Given the description of an element on the screen output the (x, y) to click on. 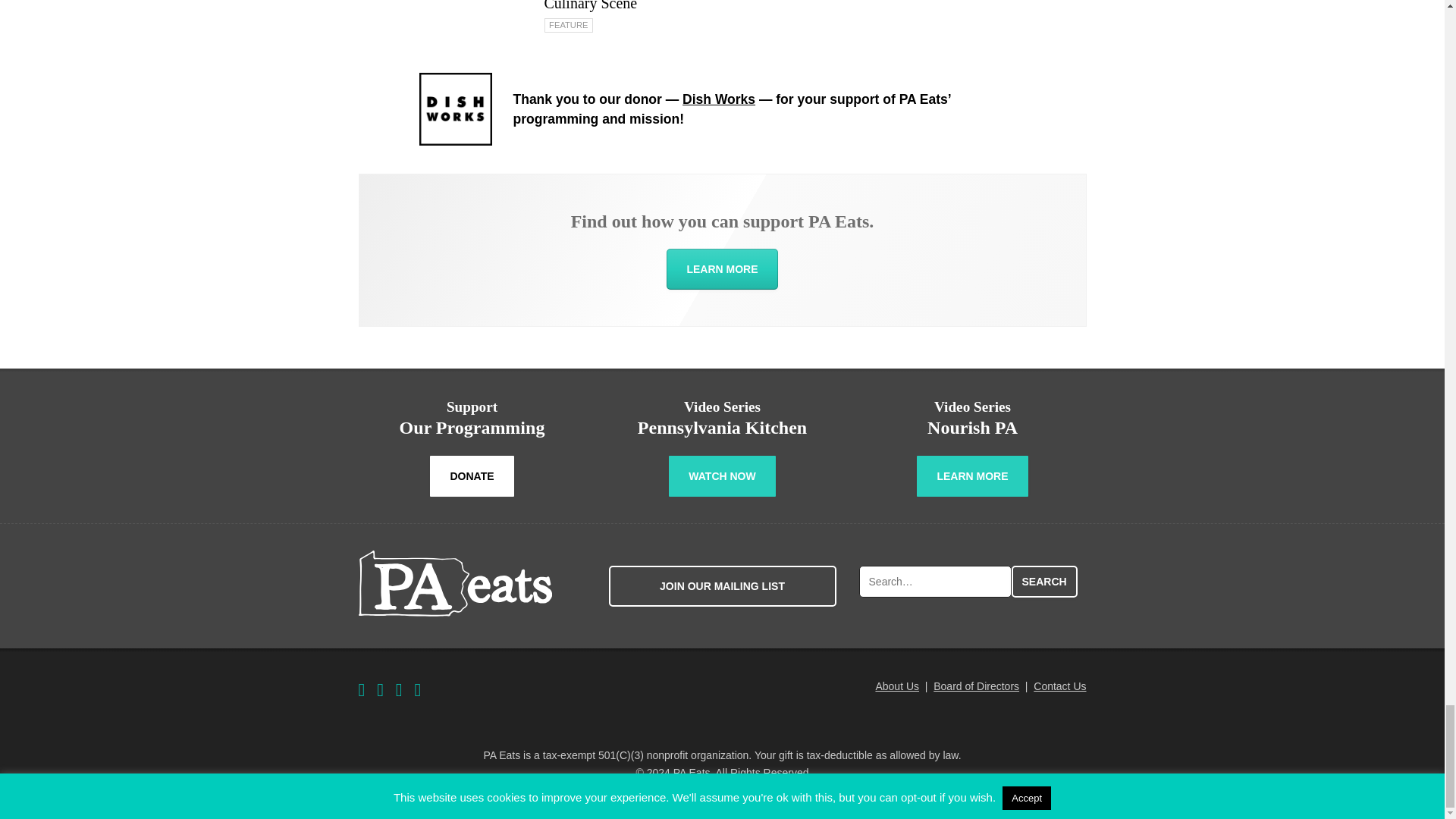
PA Eats Logo (454, 583)
Search (1044, 581)
